Given the description of an element on the screen output the (x, y) to click on. 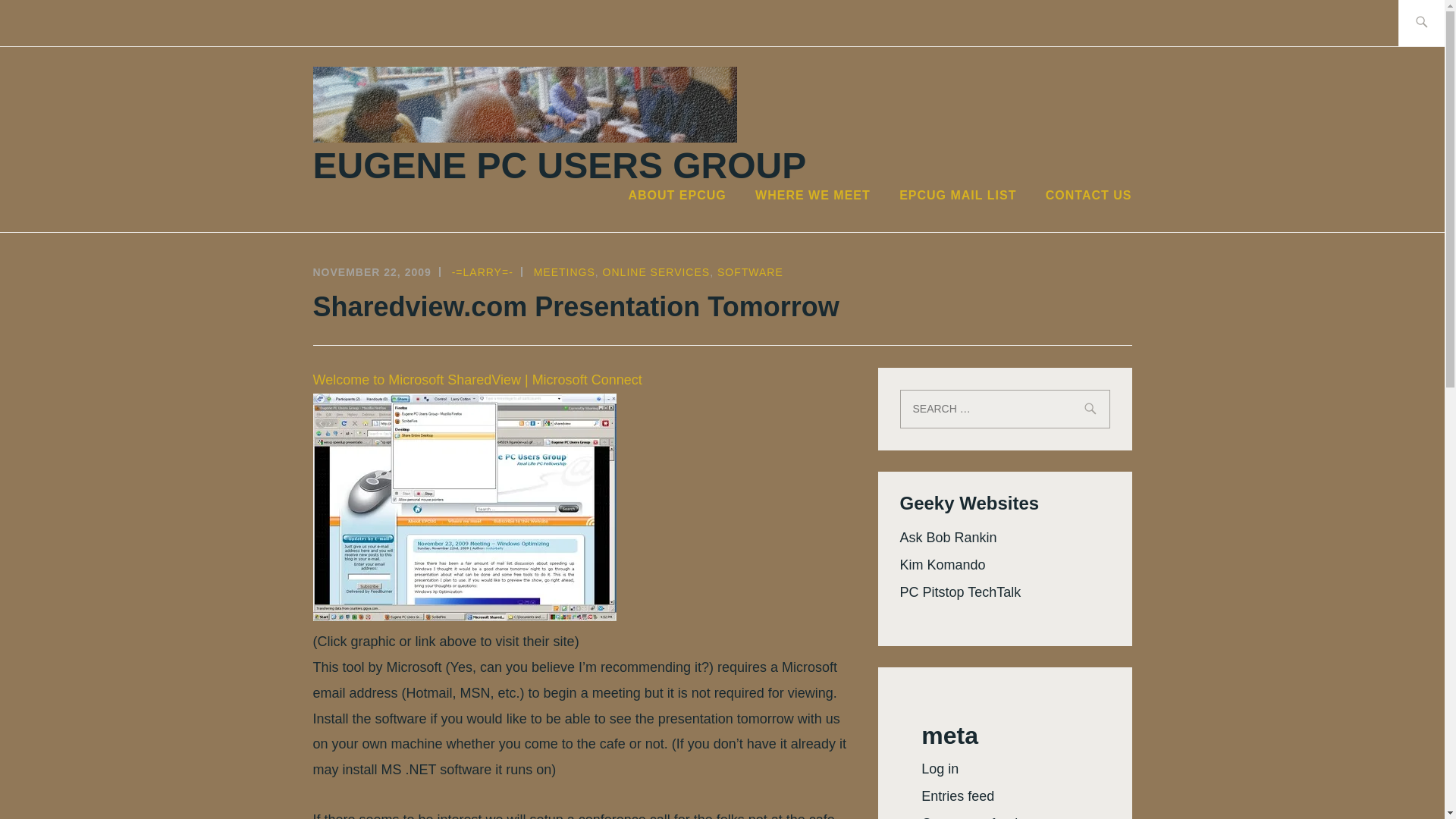
Entries feed (957, 795)
Everyday PC Tech, Tips, and Tricks (959, 591)
ABOUT EPCUG (676, 195)
Ask Bob Rankin (947, 537)
Search (47, 22)
CONTACT US (1088, 195)
SOFTWARE (750, 272)
Comments feed (969, 817)
EPCUG MAIL LIST (957, 195)
Log in (939, 768)
